Given the description of an element on the screen output the (x, y) to click on. 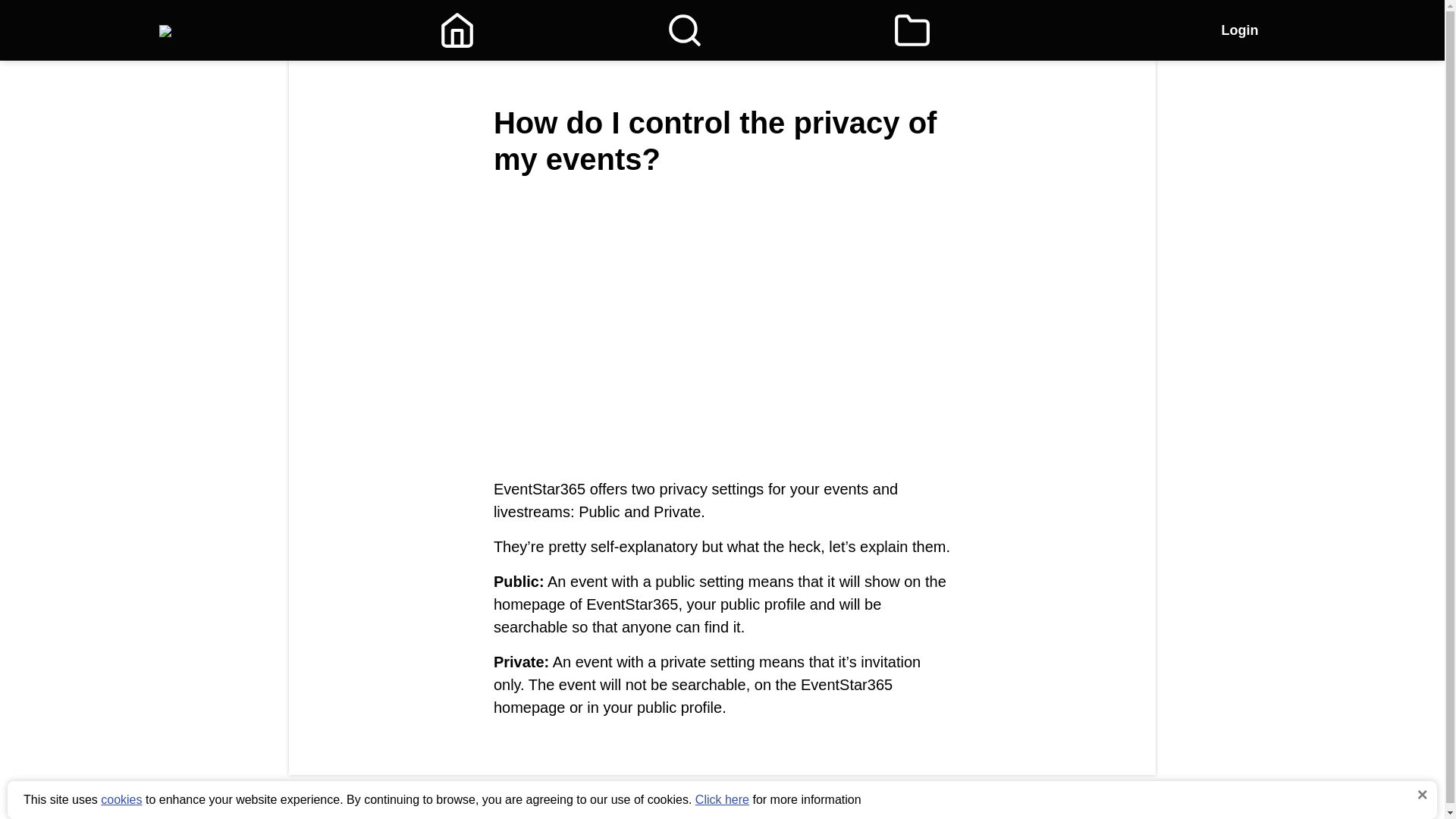
Contact Us (730, 798)
cookies (120, 799)
Search (684, 30)
Login (1238, 29)
Click here (722, 799)
translation missing: en.stream (763, 84)
